Given the description of an element on the screen output the (x, y) to click on. 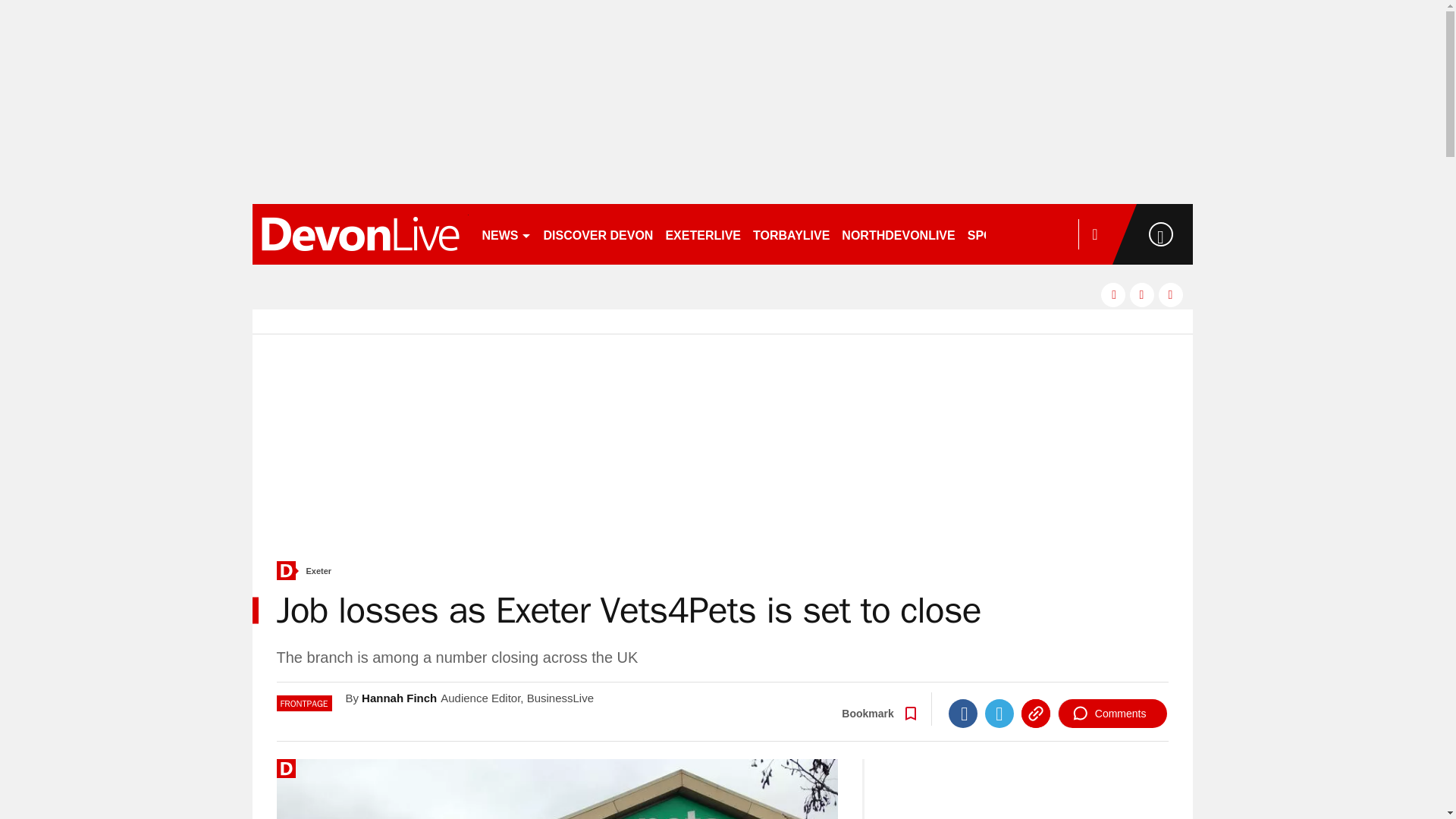
Twitter (999, 713)
devonlive (359, 233)
NEWS (506, 233)
EXETERLIVE (702, 233)
DISCOVER DEVON (598, 233)
NORTHDEVONLIVE (897, 233)
Facebook (962, 713)
twitter (1141, 294)
facebook (1112, 294)
instagram (1170, 294)
